Given the description of an element on the screen output the (x, y) to click on. 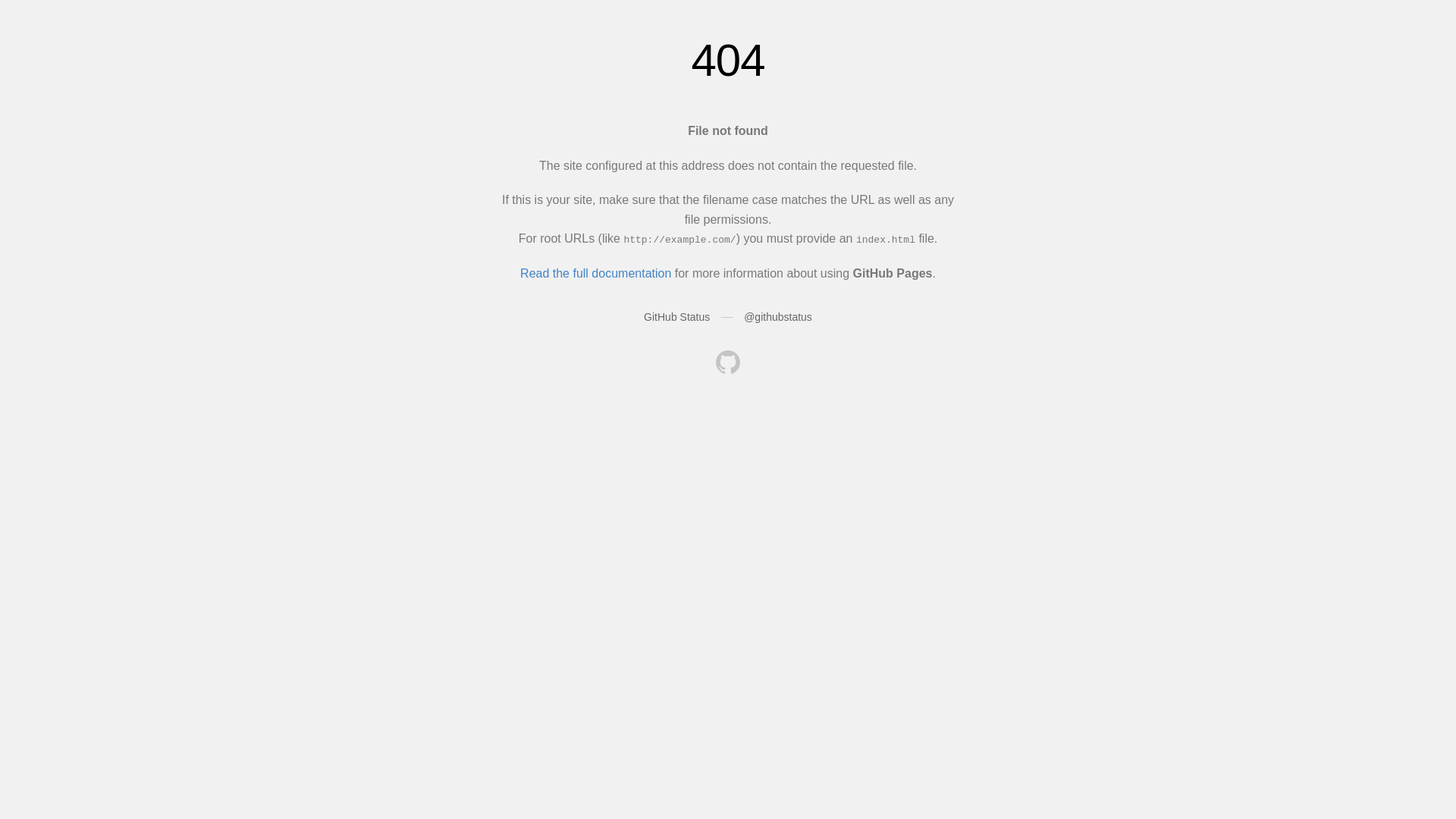
GitHub Status Element type: text (676, 316)
Read the full documentation Element type: text (595, 272)
@githubstatus Element type: text (777, 316)
